Given the description of an element on the screen output the (x, y) to click on. 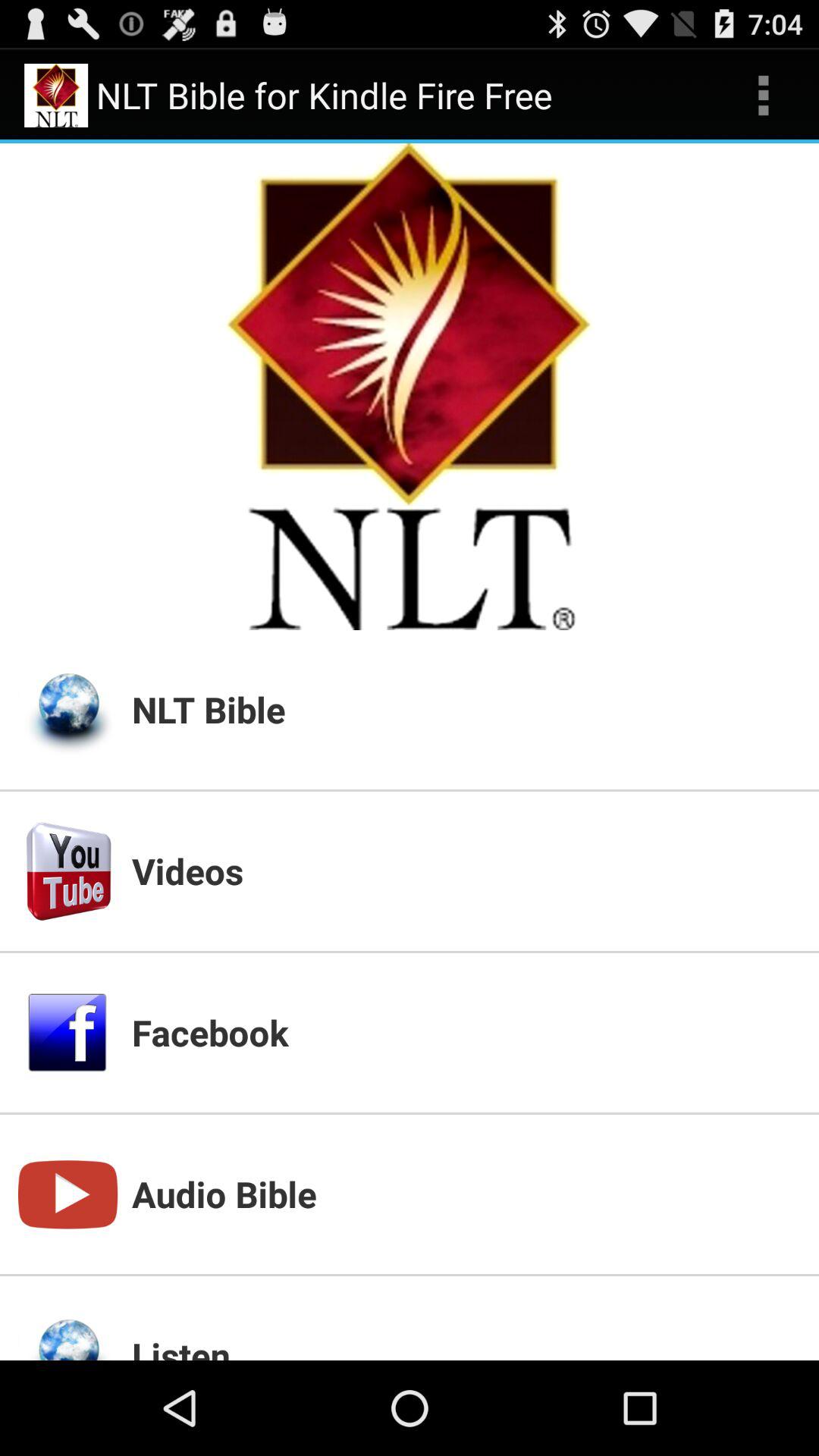
swipe until listen icon (465, 1345)
